Given the description of an element on the screen output the (x, y) to click on. 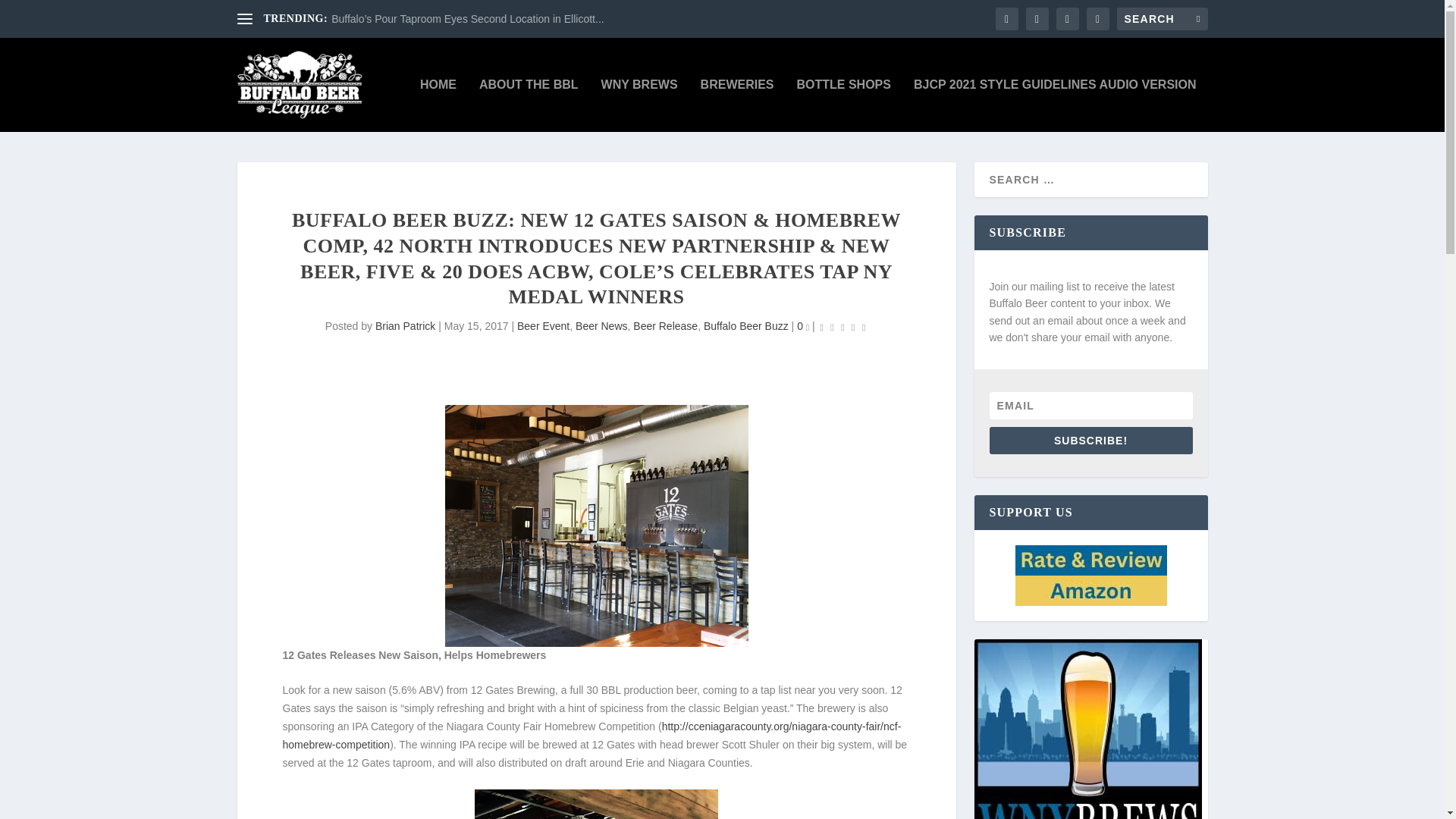
HOME (438, 104)
Beer Event (542, 326)
Search for: (1161, 18)
ABOUT THE BBL (528, 104)
Rating: 0.00 (842, 326)
Brian Patrick (405, 326)
BJCP 2021 STYLE GUIDELINES AUDIO VERSION (1055, 104)
Posts by Brian Patrick (405, 326)
WNY BREWS (639, 104)
BOTTLE SHOPS (842, 104)
Beer News (601, 326)
0 (802, 326)
Buffalo Beer Buzz (746, 326)
comment count (807, 327)
Beer Release (665, 326)
